Given the description of an element on the screen output the (x, y) to click on. 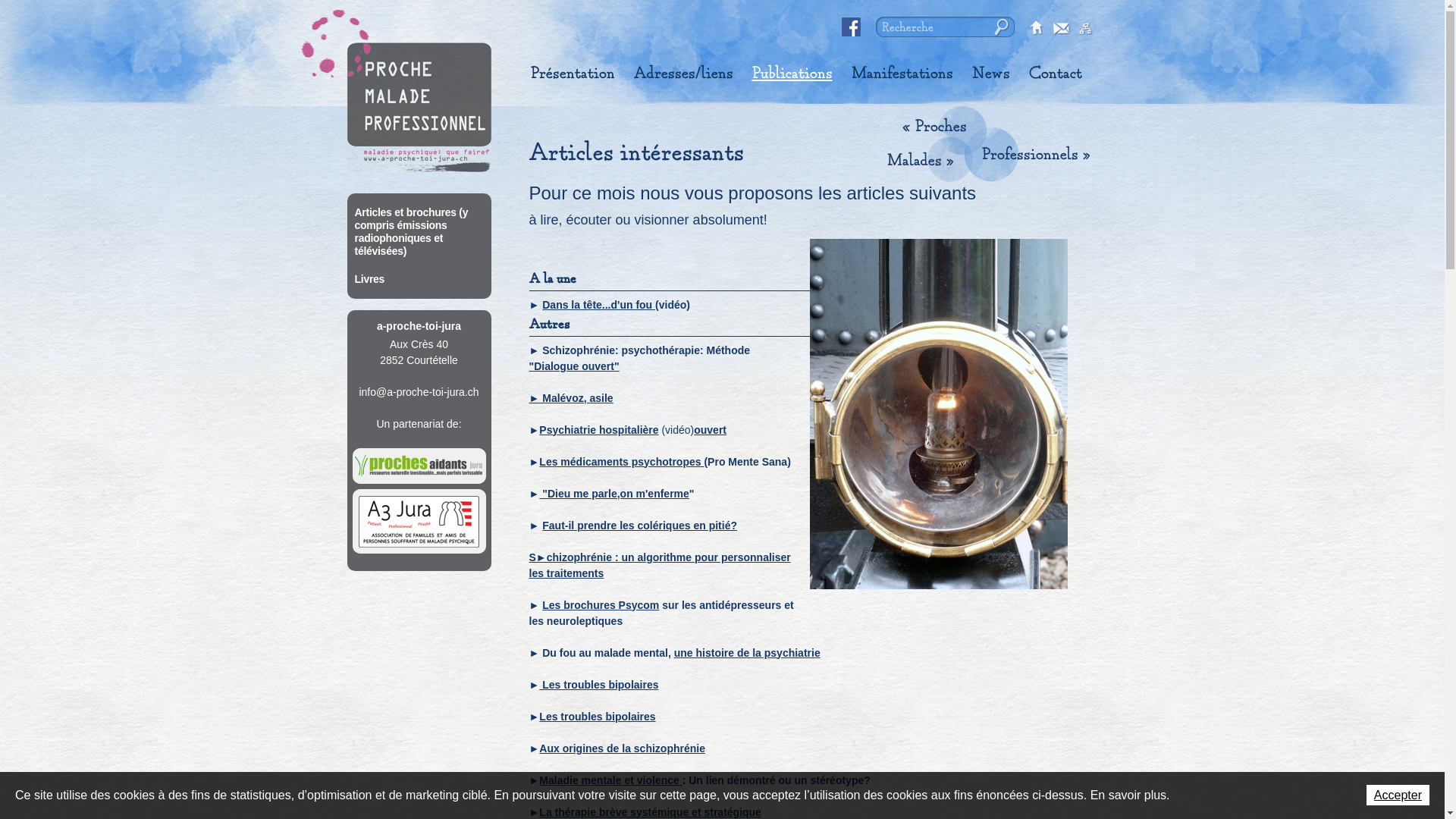
Proches aidant Jura Element type: text (418, 465)
Les brochures Psycom Element type: text (600, 605)
info@a-proche-toi-jura.ch Element type: text (418, 391)
"Dialogue ouvert" Element type: text (574, 365)
contact Element type: text (1060, 28)
Adresses/liens Element type: text (683, 73)
Accepter Element type: text (1397, 794)
Maladie mentale et violence Element type: text (610, 779)
sitemap Element type: text (1084, 28)
"Dieu me parle,on m'enferme Element type: text (615, 492)
Facebook Element type: text (851, 27)
News Element type: text (991, 73)
Contact Element type: text (1054, 73)
Les troubles bipolaires Element type: text (597, 715)
Livres Element type: text (419, 279)
Manifestations Element type: text (901, 73)
A-proche-toi Jura Element type: text (419, 107)
Publications Element type: text (792, 73)
Les troubles bipolaires Element type: text (598, 683)
  Element type: text (540, 492)
une histoire de la psychiatrie Element type: text (747, 652)
accueil Element type: text (1036, 28)
Rechercher Element type: text (999, 26)
a3 Jura Element type: text (418, 521)
ouvert Element type: text (709, 429)
